Given the description of an element on the screen output the (x, y) to click on. 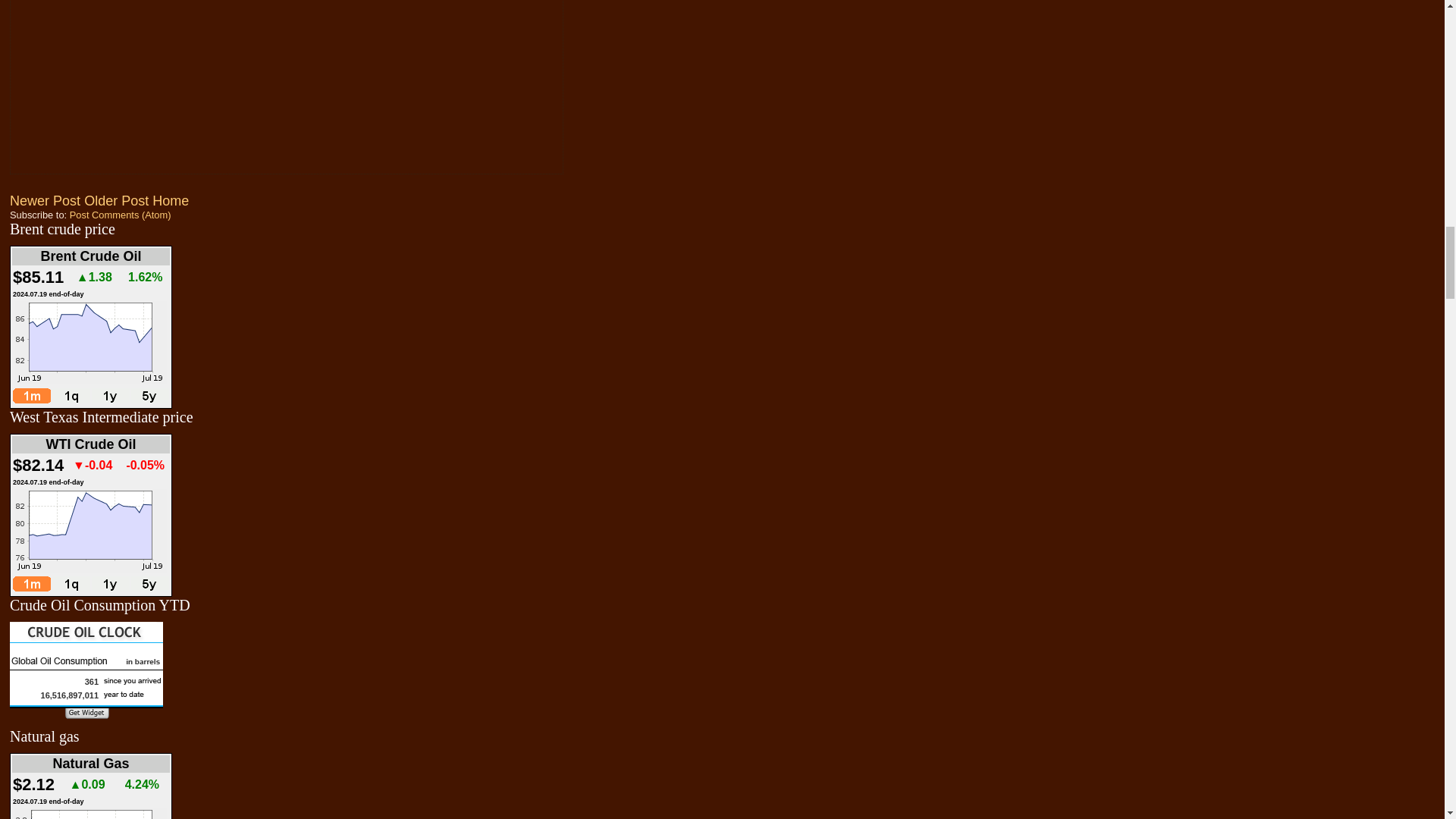
OilPrice.com (86, 673)
Home (170, 200)
Newer Post (45, 200)
Older Post (116, 200)
Newer Post (45, 200)
Older Post (116, 200)
